Given the description of an element on the screen output the (x, y) to click on. 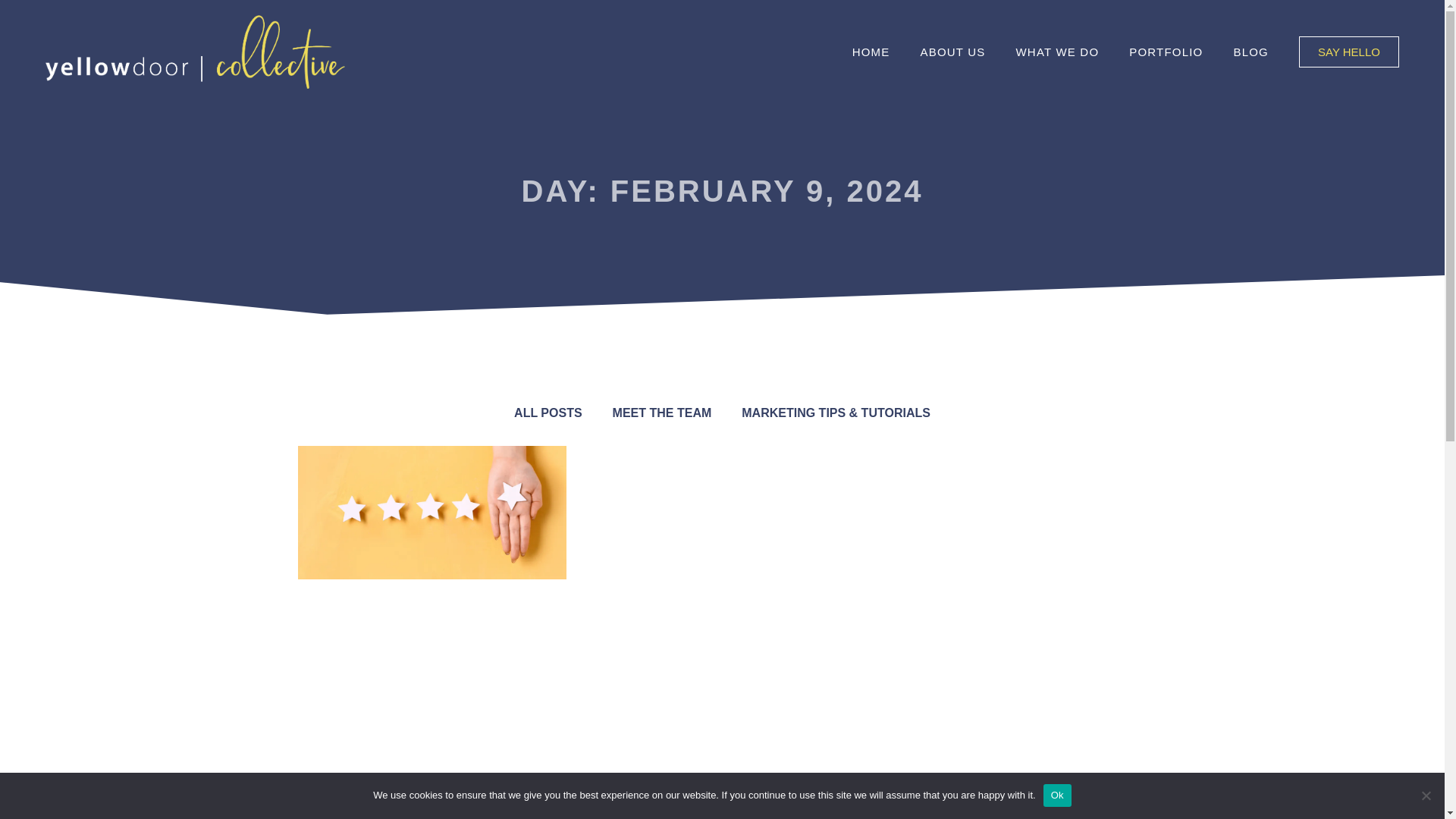
PORTFOLIO (1165, 52)
SAY HELLO (1348, 51)
ABOUT US (952, 52)
No (1425, 795)
WHAT WE DO (1058, 52)
BLOG (1249, 52)
HOME (871, 52)
